Given the description of an element on the screen output the (x, y) to click on. 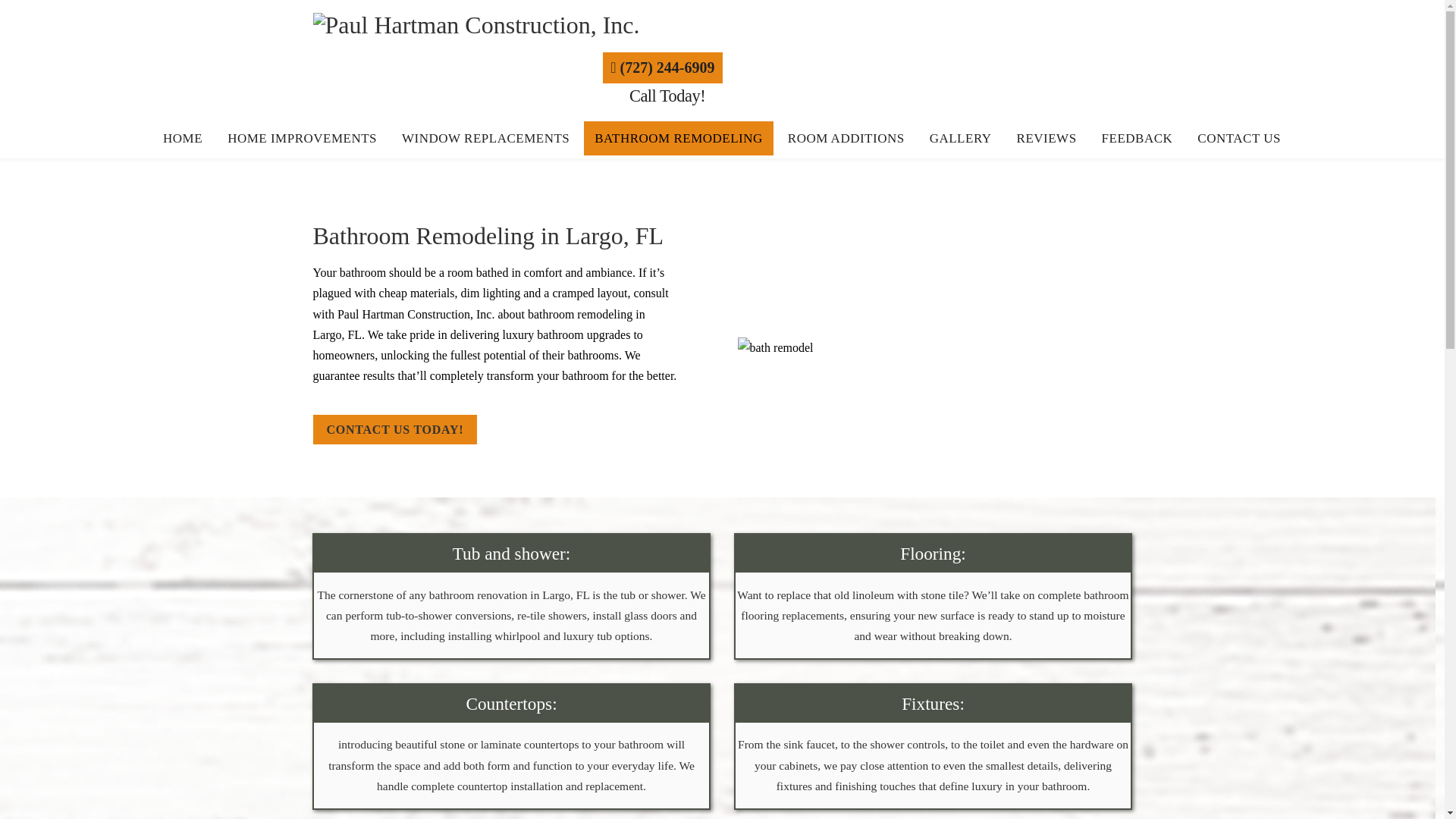
FEEDBACK (1136, 138)
CONTACT US (1238, 138)
ROOM ADDITIONS (846, 138)
BATHROOM REMODELING (678, 138)
GALLERY (960, 138)
WINDOW REPLACEMENTS (485, 138)
REVIEWS (1046, 138)
HOME IMPROVEMENTS (301, 138)
CONTACT US TODAY! (395, 429)
HOME (182, 138)
